Given the description of an element on the screen output the (x, y) to click on. 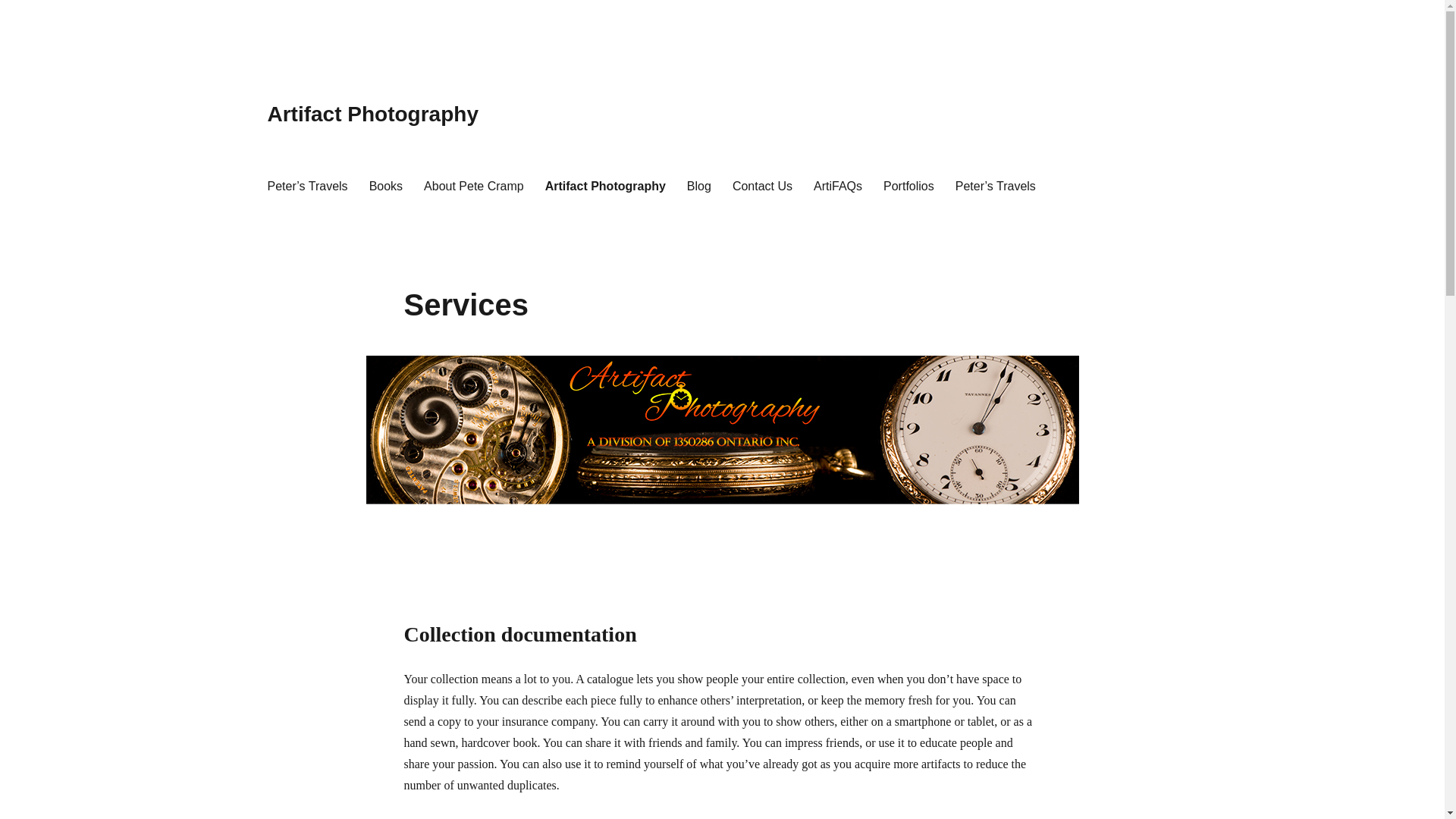
About Pete Cramp (473, 185)
Artifact Photography (605, 185)
Artifact Photography (371, 114)
Blog (699, 185)
Portfolios (908, 185)
ArtiFAQs (837, 185)
Books (385, 185)
Contact Us (762, 185)
